Given the description of an element on the screen output the (x, y) to click on. 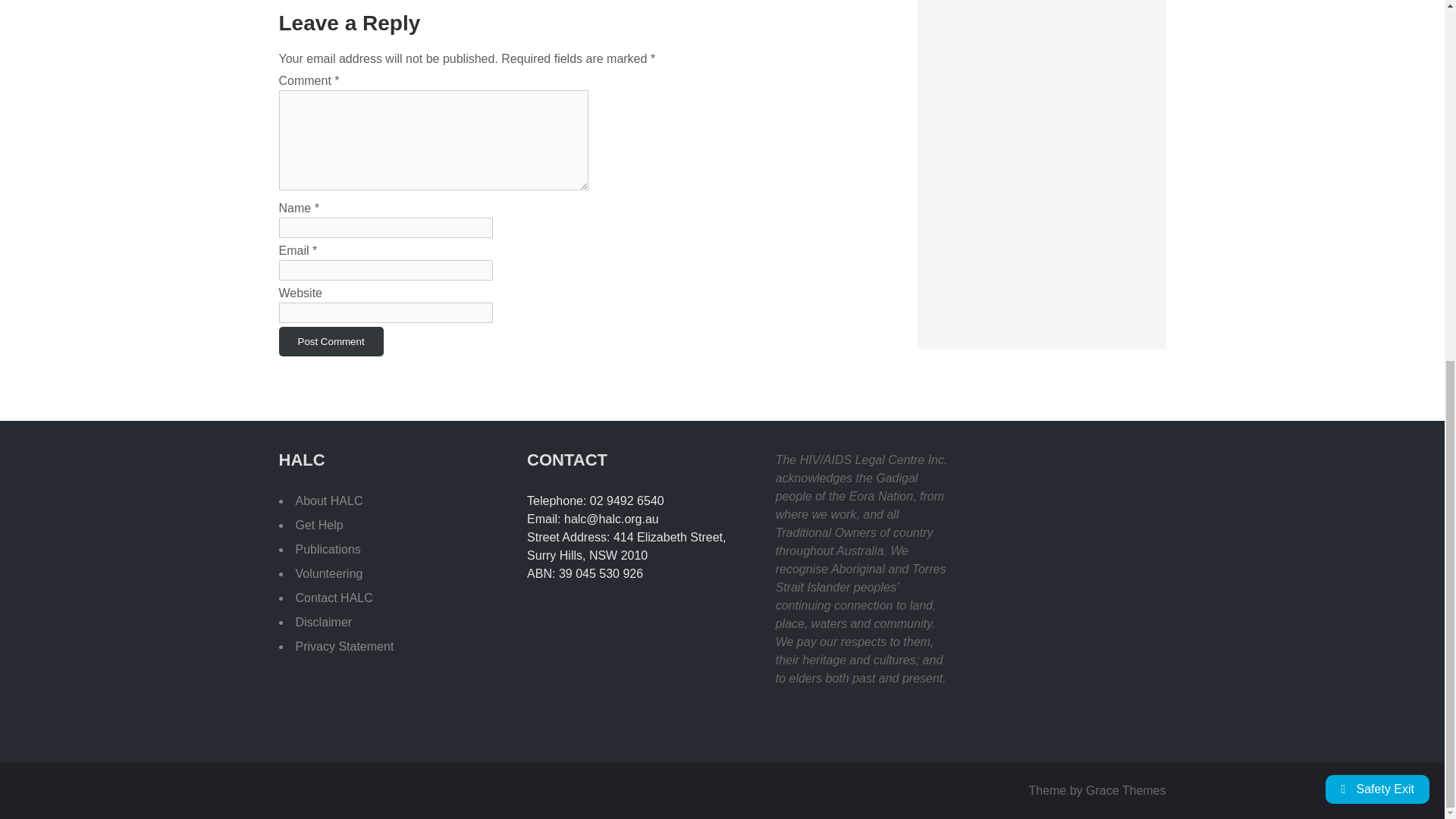
Safety Exit (1376, 149)
About HALC (328, 500)
Get Help (319, 524)
Post Comment (331, 341)
Privacy Statement (344, 645)
Disclaimer (323, 621)
Volunteering (328, 573)
Publications (328, 549)
Post Comment (331, 341)
Contact HALC (333, 597)
